Given the description of an element on the screen output the (x, y) to click on. 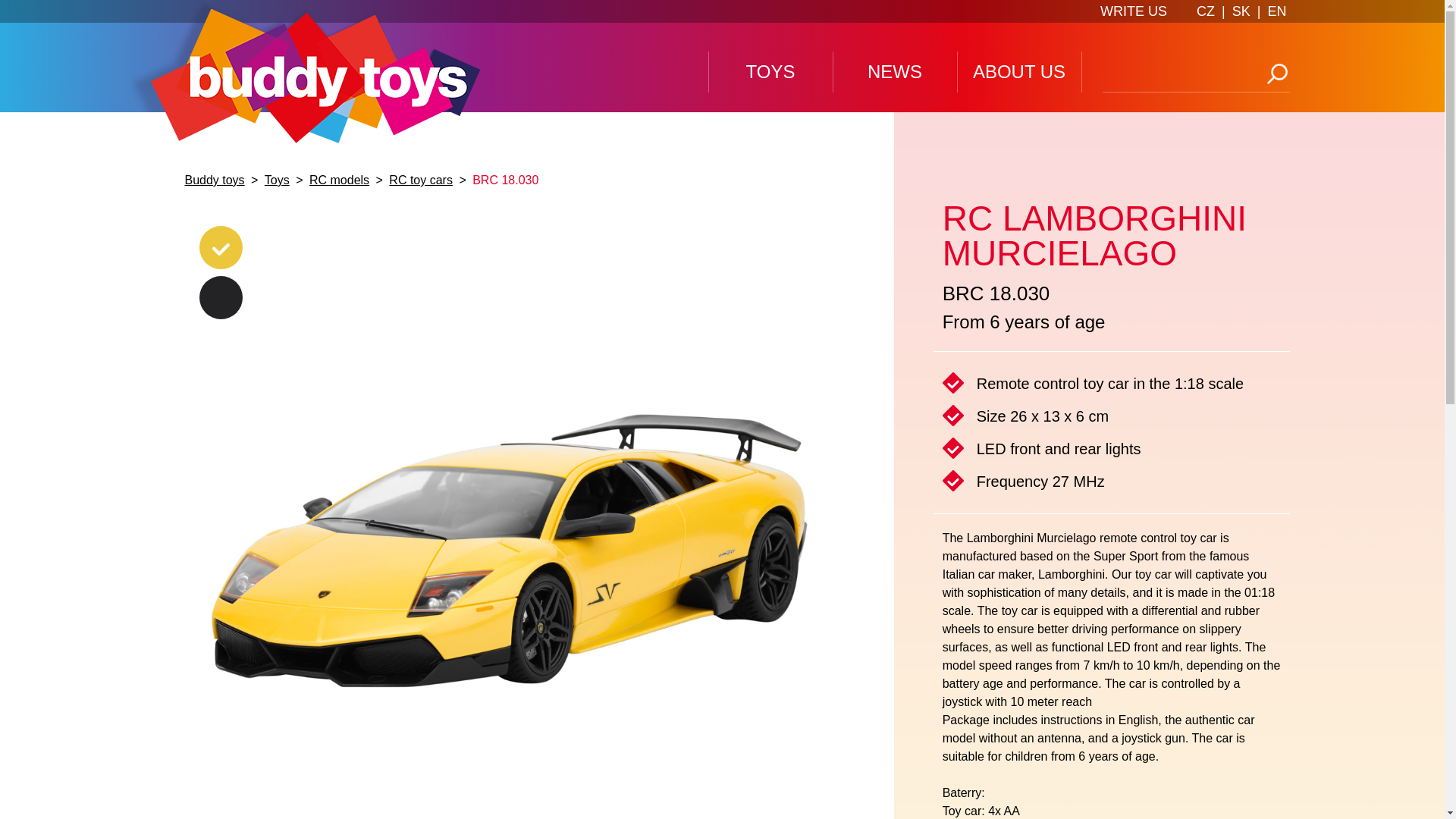
ABOUT US (1018, 71)
SK (1240, 11)
CZ (1205, 11)
Buddy toys (215, 179)
RC models (338, 179)
WRITE US (1133, 11)
EN (1275, 11)
Toys (277, 179)
RC toy cars (420, 179)
TOYS (769, 71)
NEWS (894, 71)
